Given the description of an element on the screen output the (x, y) to click on. 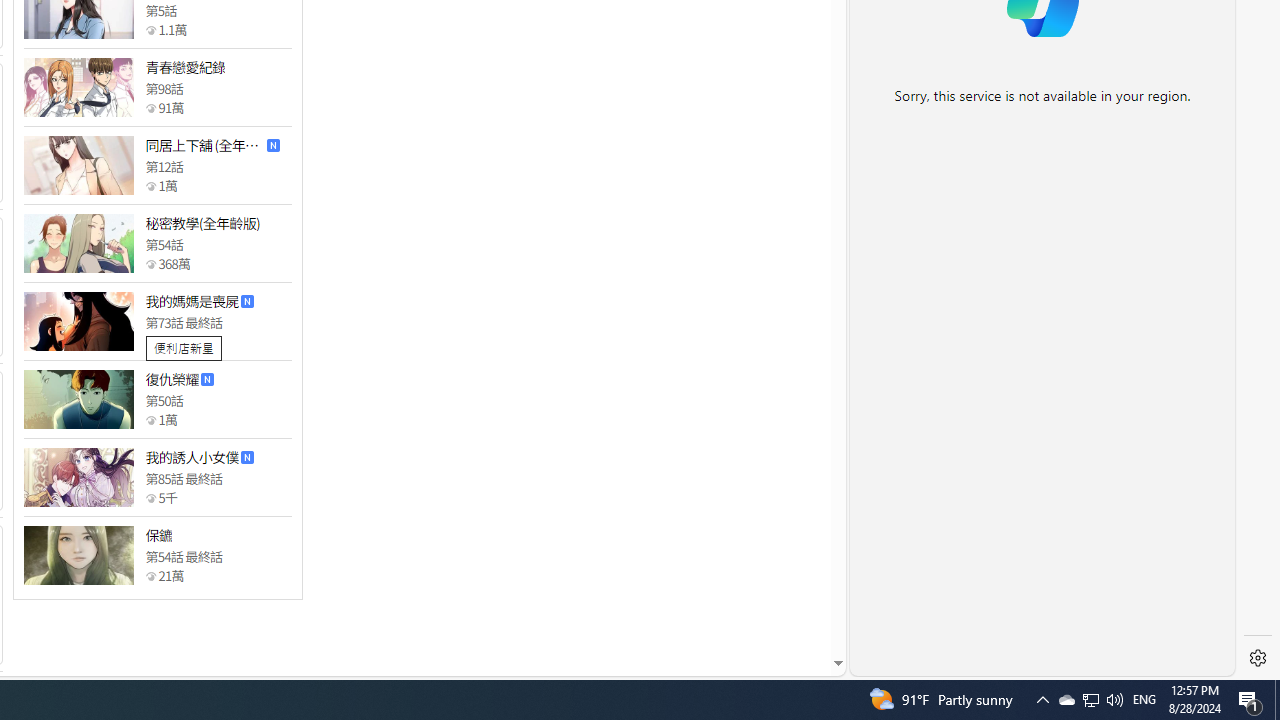
Class: epicon_starpoint (150, 575)
Class: thumb_img (78, 555)
